Given the description of an element on the screen output the (x, y) to click on. 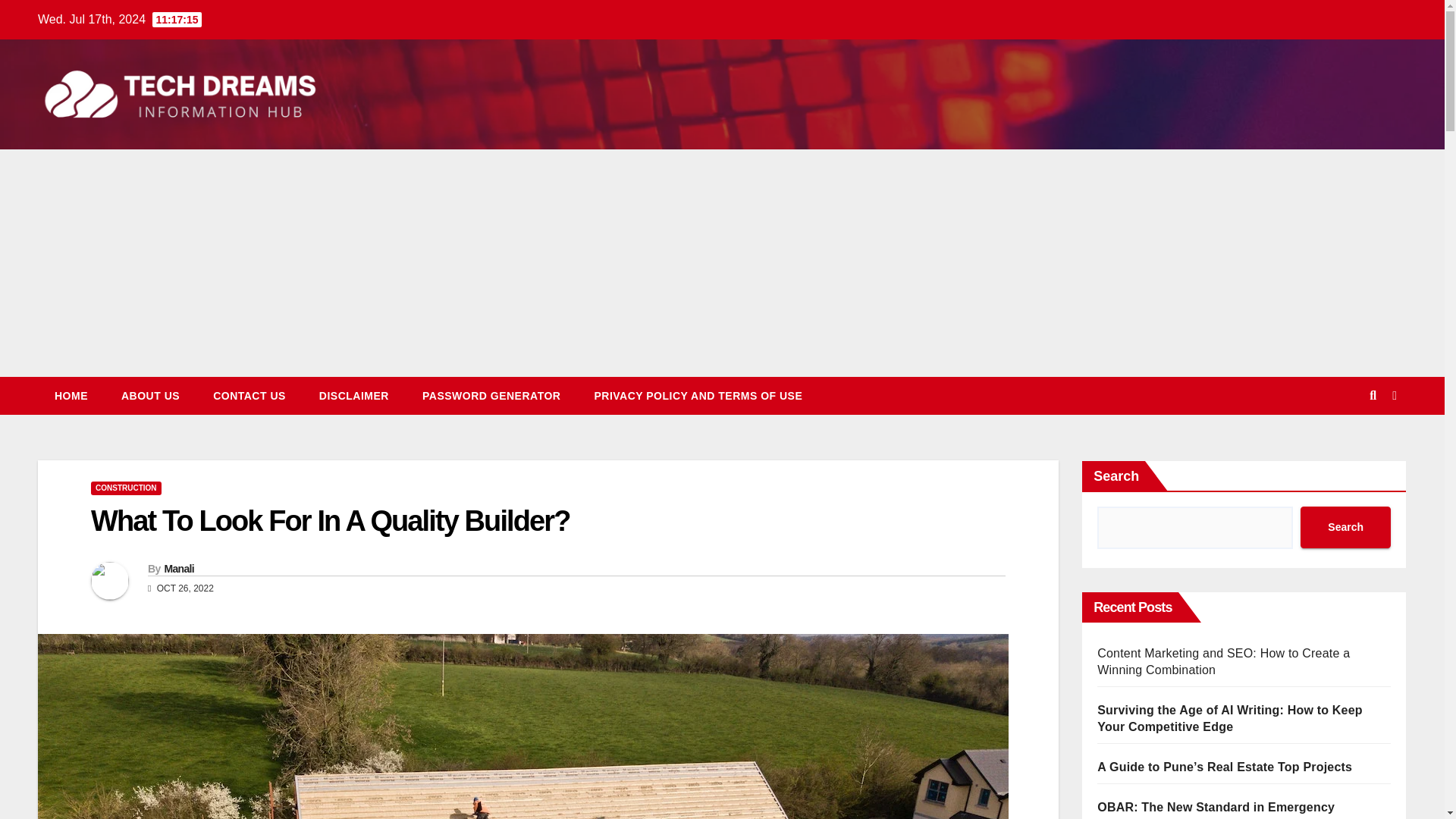
ABOUT US (150, 395)
What To Look For In A Quality Builder? (329, 521)
Permalink to: What To Look For In A Quality Builder? (329, 521)
PASSWORD GENERATOR (491, 395)
CONSTRUCTION (125, 488)
CONTACT US (249, 395)
HOME (70, 395)
Manali (178, 568)
DISCLAIMER (354, 395)
PRIVACY POLICY AND TERMS OF USE (697, 395)
Home (70, 395)
